Given the description of an element on the screen output the (x, y) to click on. 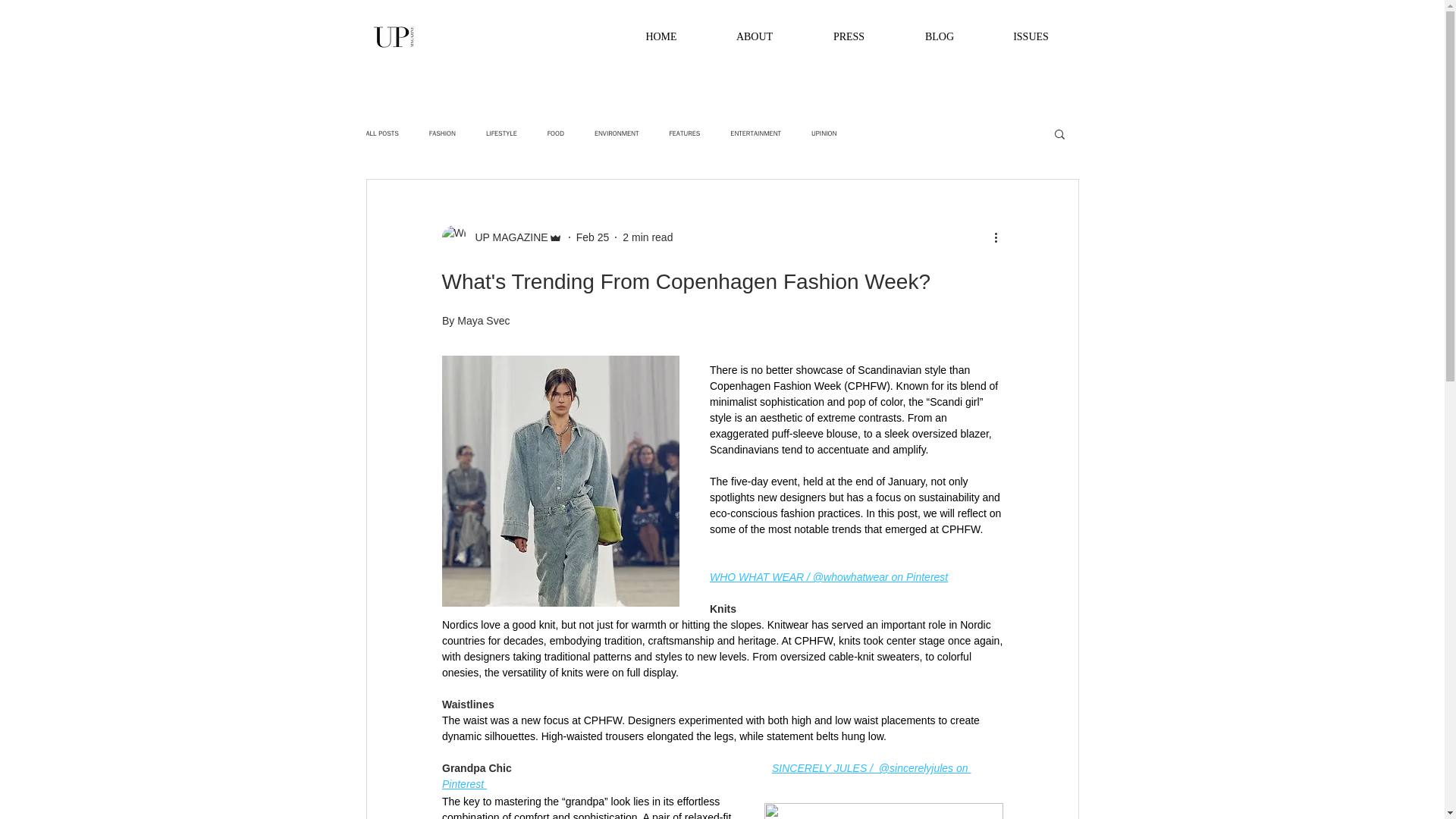
BLOG (939, 37)
HOME (660, 37)
ENVIRONMENT (616, 133)
FOOD (555, 133)
ISSUES (1031, 37)
LIFESTYLE (501, 133)
ENTERTAINMENT (755, 133)
FASHION (442, 133)
Feb 25 (593, 236)
2 min read (647, 236)
